Given the description of an element on the screen output the (x, y) to click on. 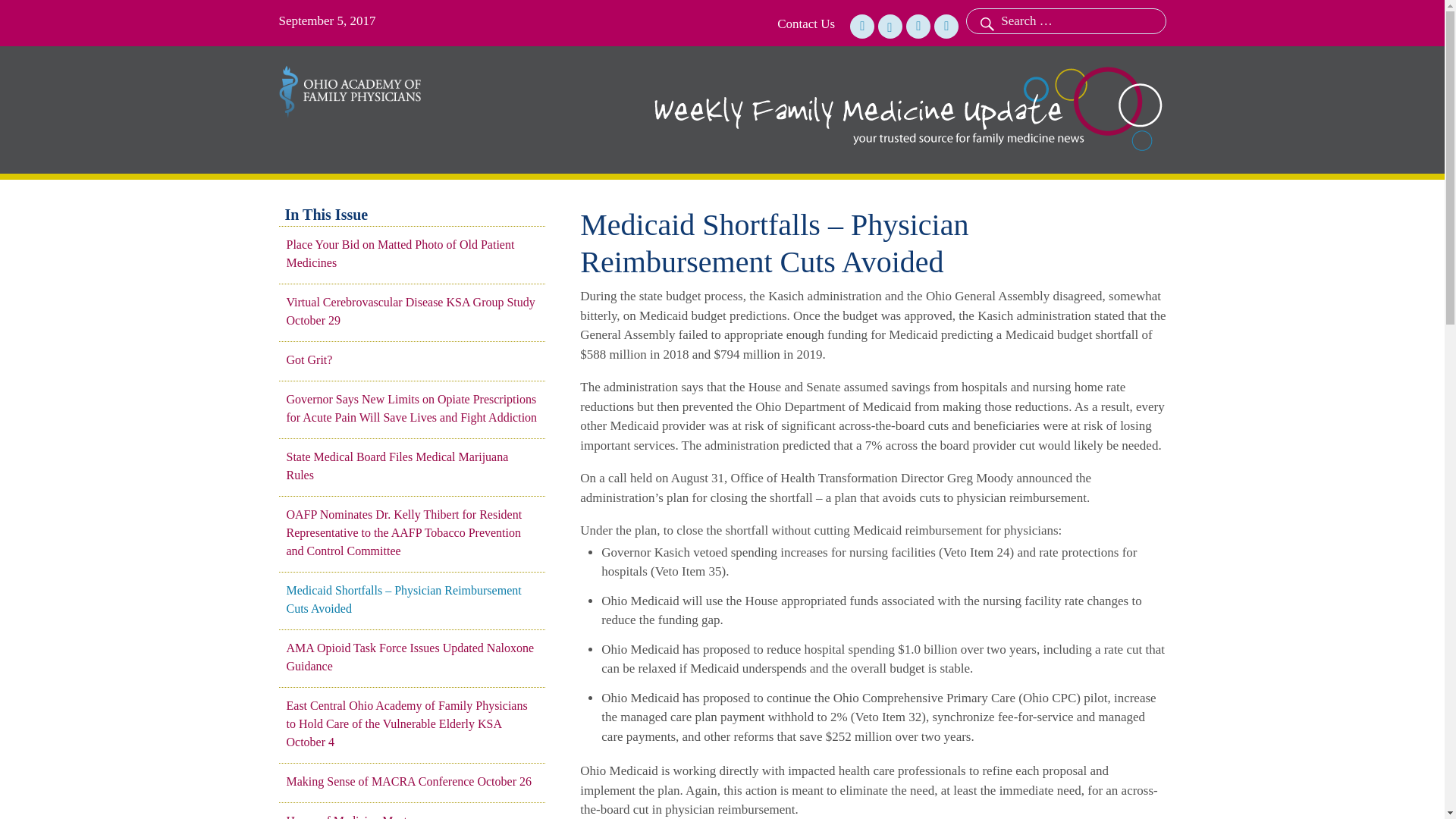
House of Medicine Meets (411, 815)
Making Sense of MACRA Conference October 26 (411, 782)
State Medical Board Files Medical Marijuana Rules (411, 465)
SEARCH (985, 21)
Place Your Bid on Matted Photo of Old Patient Medicines (411, 253)
Virtual Cerebrovascular Disease KSA Group Study October 29 (411, 311)
Contact Us (805, 24)
